Given the description of an element on the screen output the (x, y) to click on. 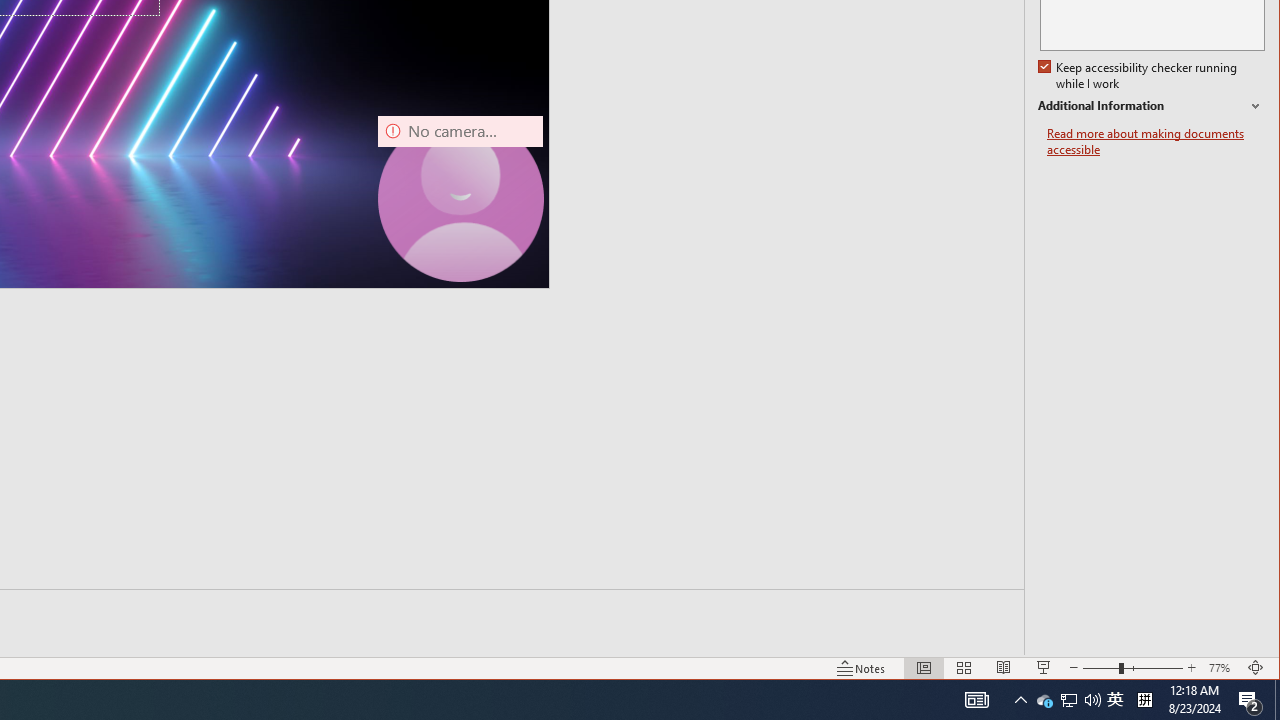
Zoom 77% (1222, 668)
